Given the description of an element on the screen output the (x, y) to click on. 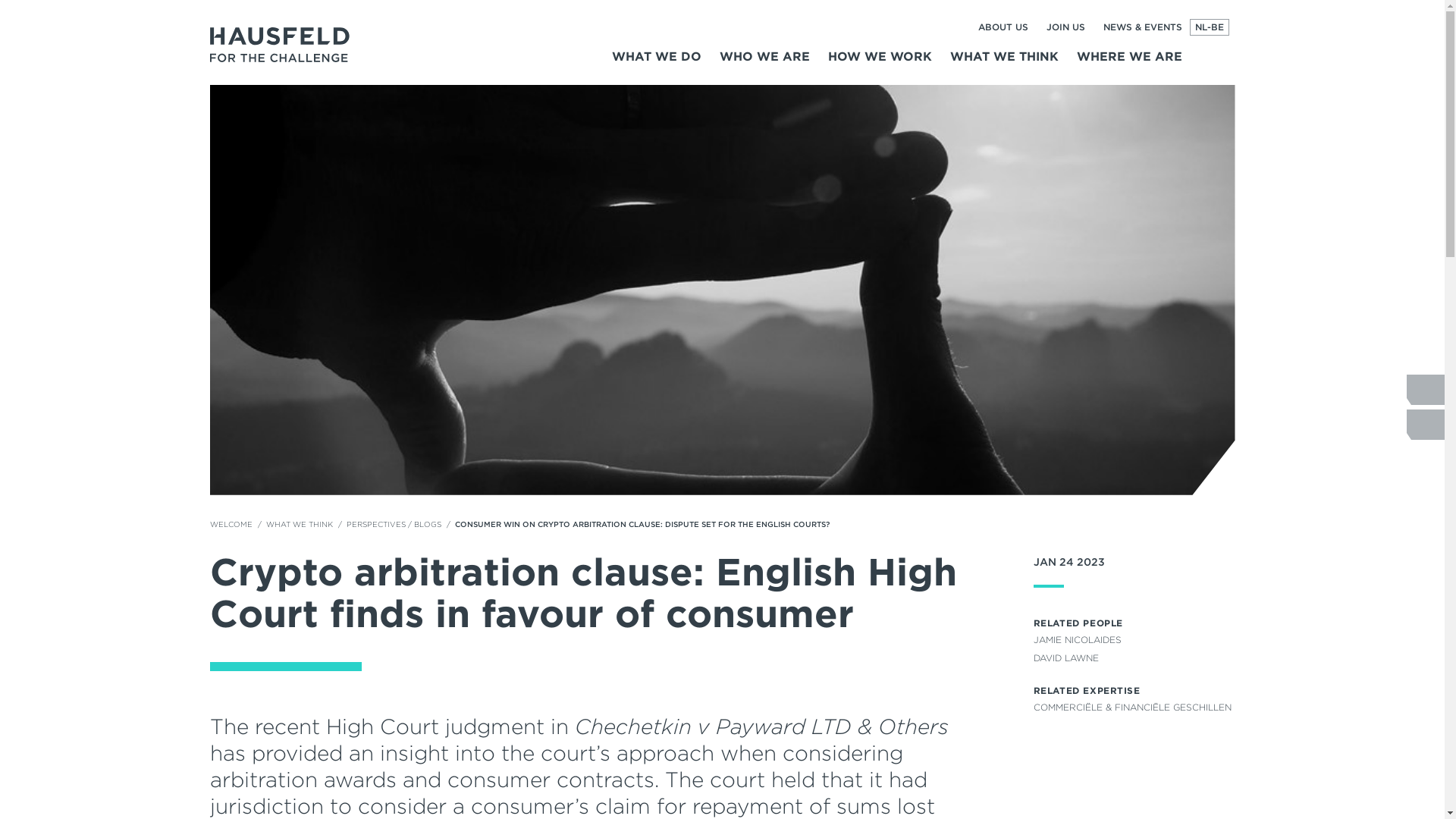
WHAT WE DO (655, 59)
NL-BE (1208, 27)
WHO WE ARE (764, 59)
